Given the description of an element on the screen output the (x, y) to click on. 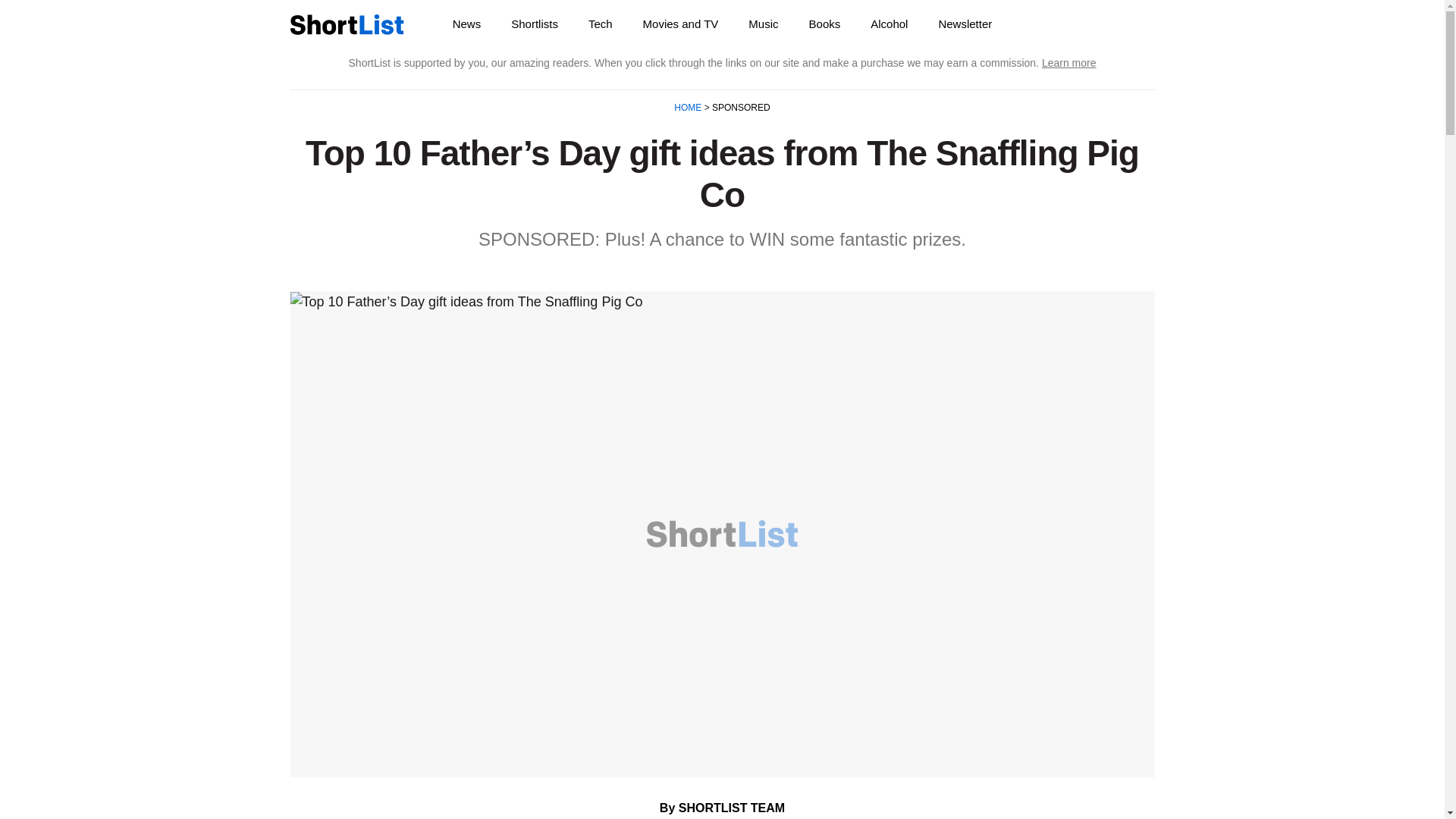
Alcohol (889, 23)
Music (763, 23)
Shortlists (534, 23)
Tech (600, 23)
HOME (688, 107)
Newsletter (965, 23)
SPONSORED (740, 107)
Shortlist (346, 24)
Movies and TV (680, 23)
Learn more (1069, 62)
Books (824, 23)
News (467, 23)
By SHORTLIST TEAM (721, 807)
